Given the description of an element on the screen output the (x, y) to click on. 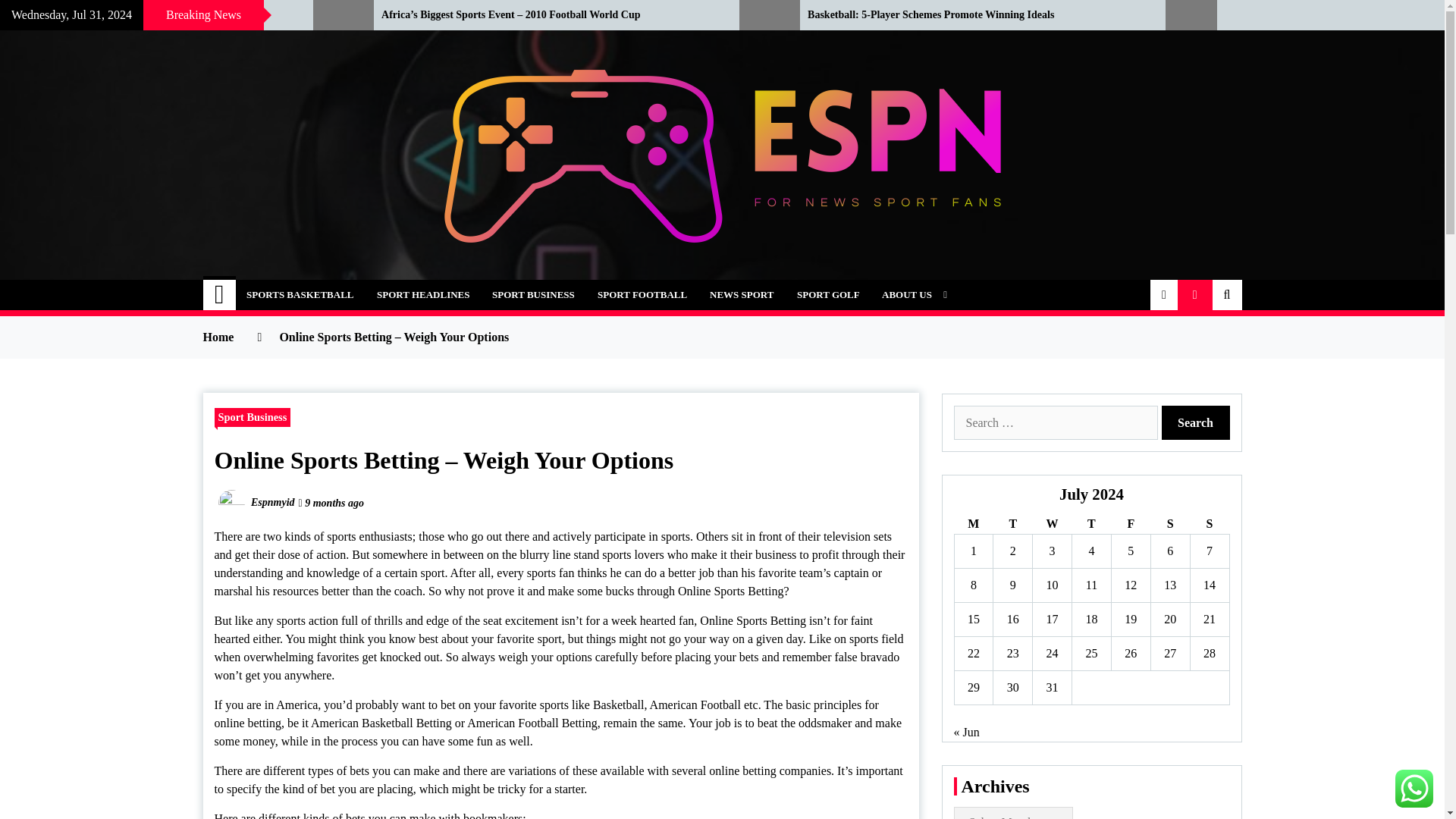
Wednesday (1051, 524)
Tuesday (1012, 524)
Thursday (1091, 524)
Saturday (1169, 524)
Search (1195, 422)
Horse Racing Basics (144, 15)
Home (219, 295)
Search (1195, 422)
Friday (1130, 524)
Monday (972, 524)
Basketball: 5-Player Schemes Promote Winning Ideals (975, 15)
Sunday (1208, 524)
